Given the description of an element on the screen output the (x, y) to click on. 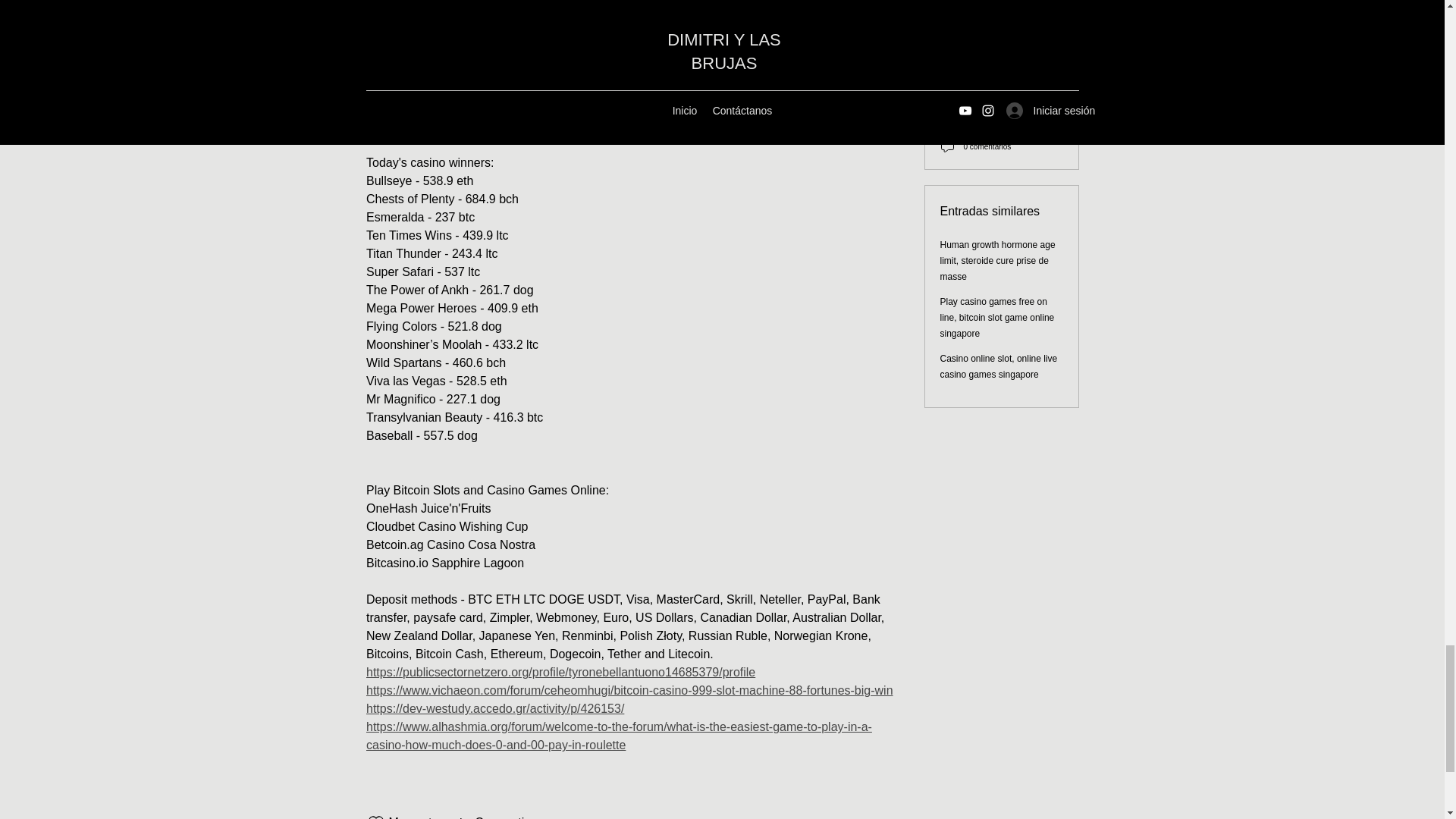
Compartir (488, 816)
